Given the description of an element on the screen output the (x, y) to click on. 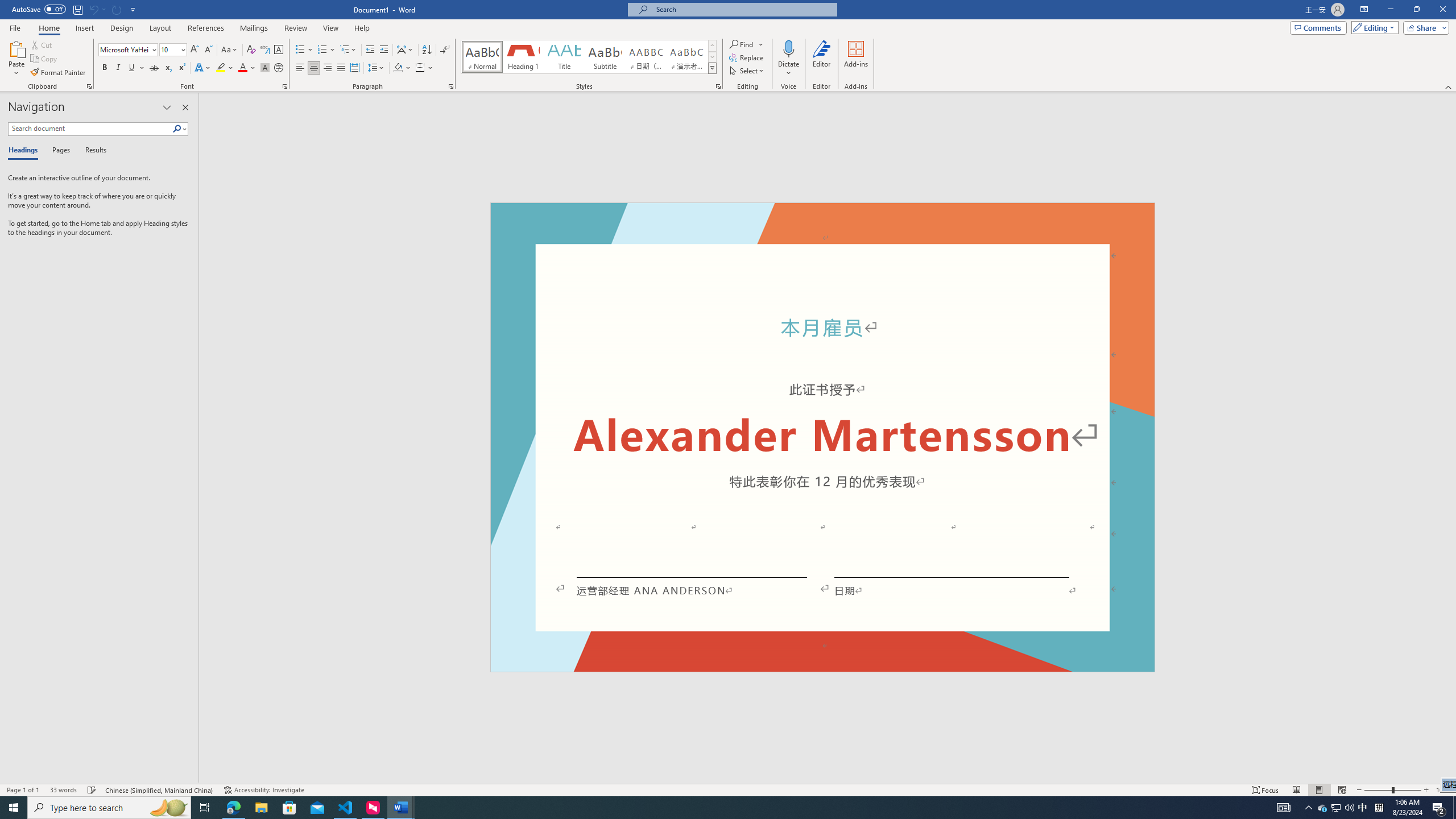
Text Effects and Typography (202, 67)
Text Highlight Color Yellow (220, 67)
References (205, 28)
Line and Paragraph Spacing (376, 67)
Decorative (822, 437)
Class: MsoCommandBar (728, 789)
Layout (160, 28)
Insert (83, 28)
Italic (118, 67)
Strikethrough (154, 67)
